Given the description of an element on the screen output the (x, y) to click on. 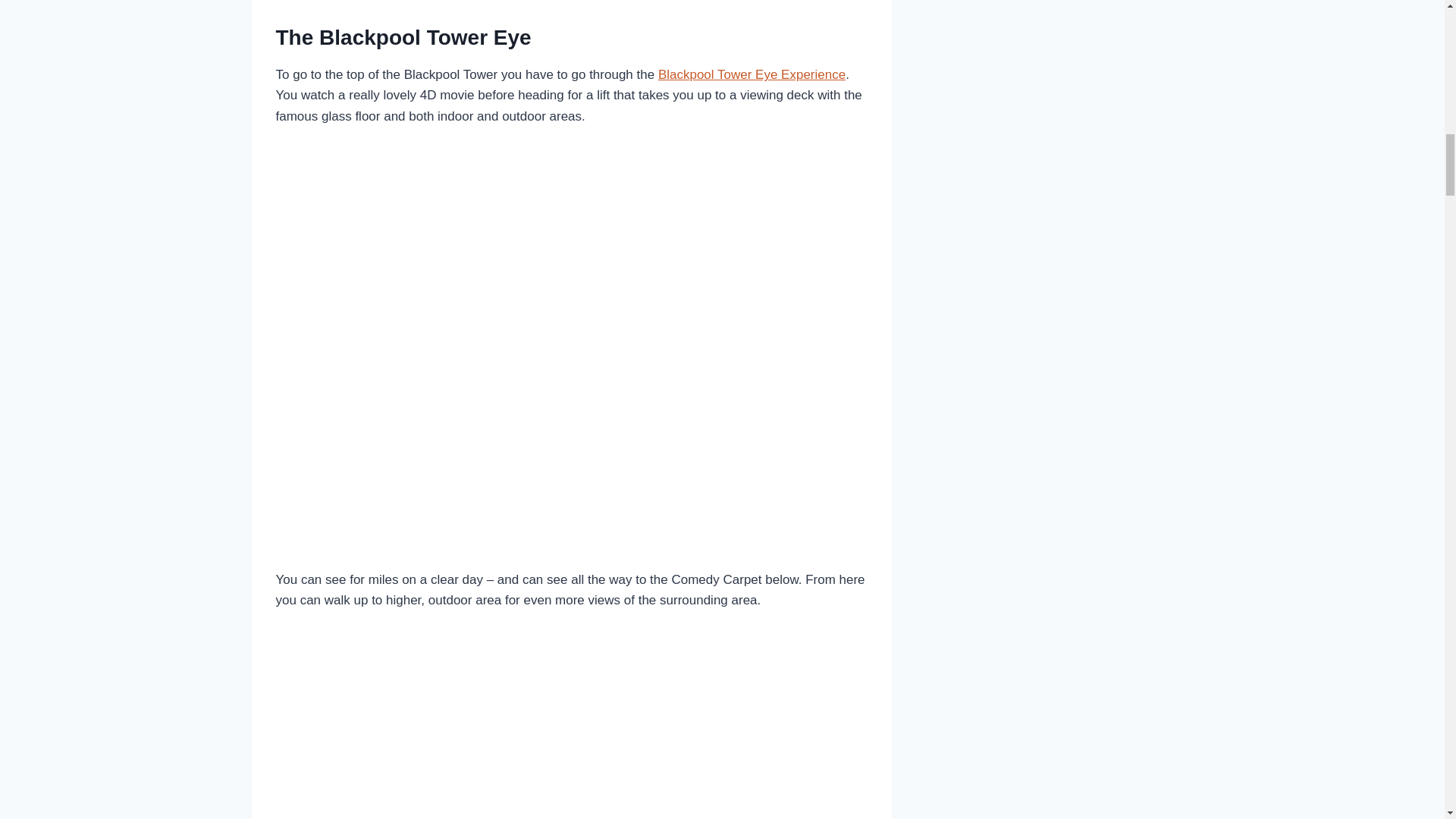
Blackpool Tower Eye Experience (751, 74)
